Given the description of an element on the screen output the (x, y) to click on. 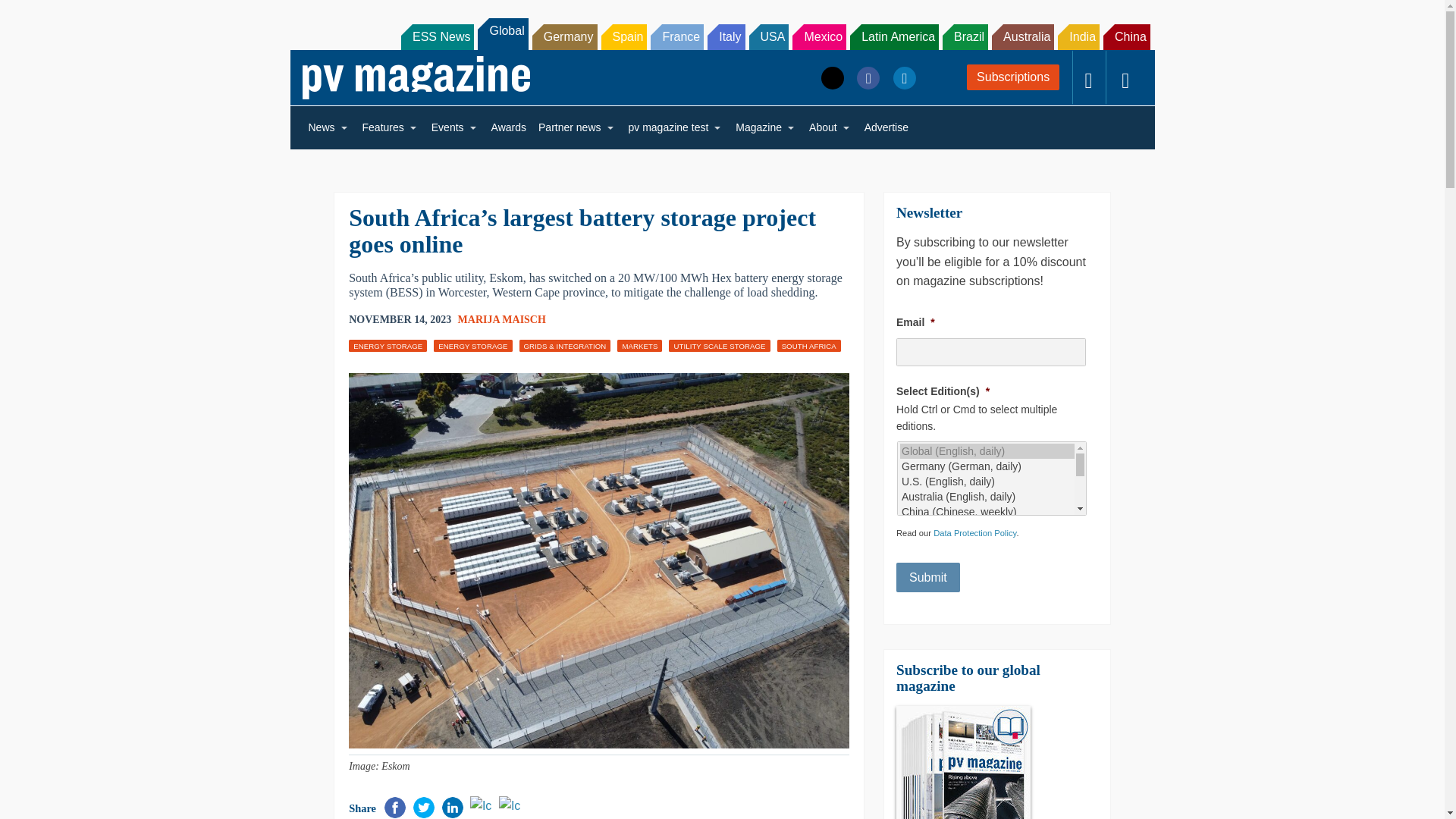
Australia (1022, 36)
Mexico (818, 36)
Submit (927, 577)
Latin America (894, 36)
USA (769, 36)
pv magazine - Photovoltaics Markets and Technology (415, 77)
Subscriptions (1012, 77)
France (676, 36)
Posts by Marija Maisch (502, 319)
Brazil (965, 36)
